Given the description of an element on the screen output the (x, y) to click on. 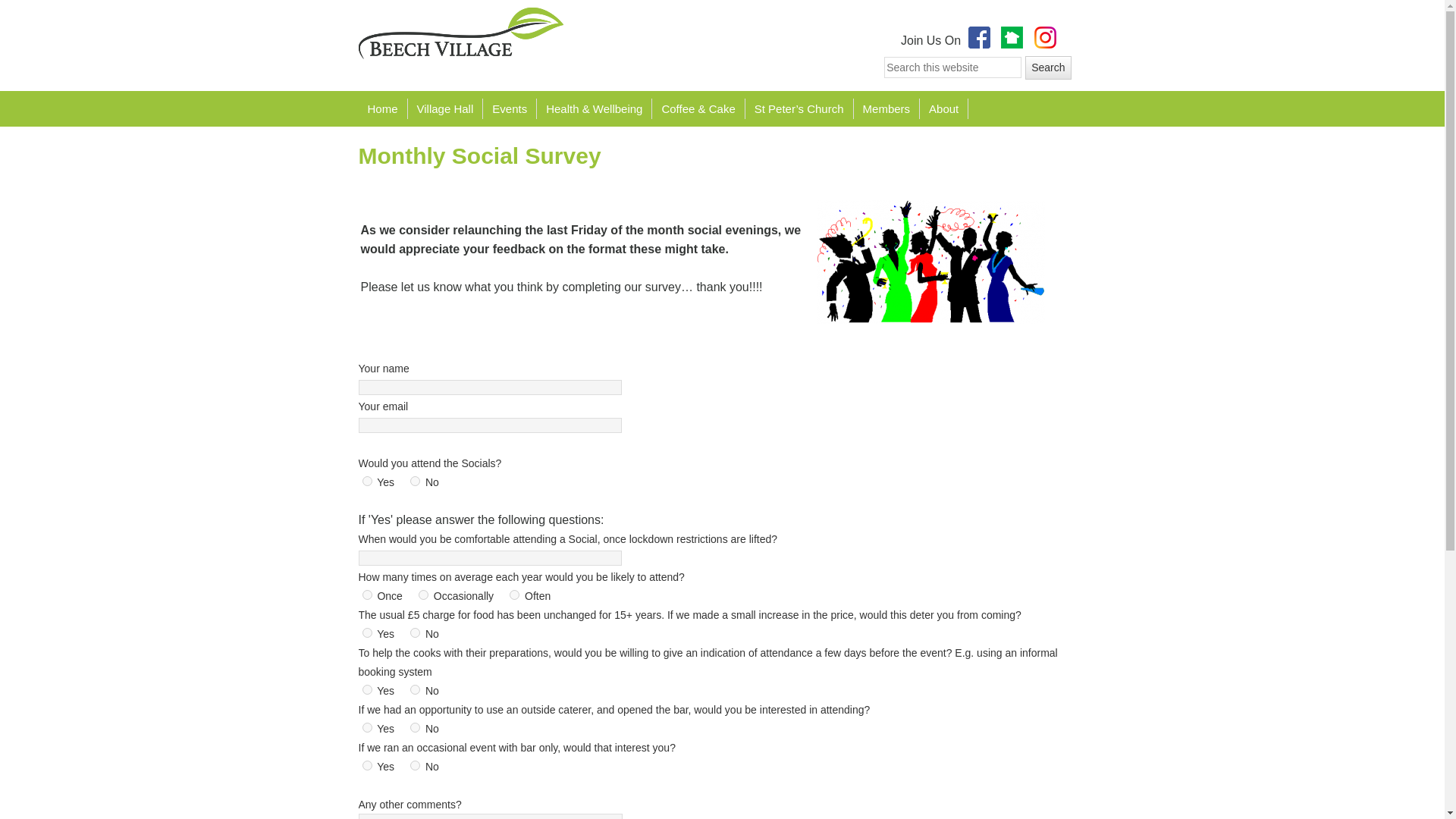
Yes (367, 480)
Search (1047, 67)
No (415, 633)
Events (510, 108)
Beech Village Hampshire (460, 32)
Yes (367, 689)
Occasionally (423, 594)
Once (367, 594)
Search (1047, 67)
No (415, 689)
